Given the description of an element on the screen output the (x, y) to click on. 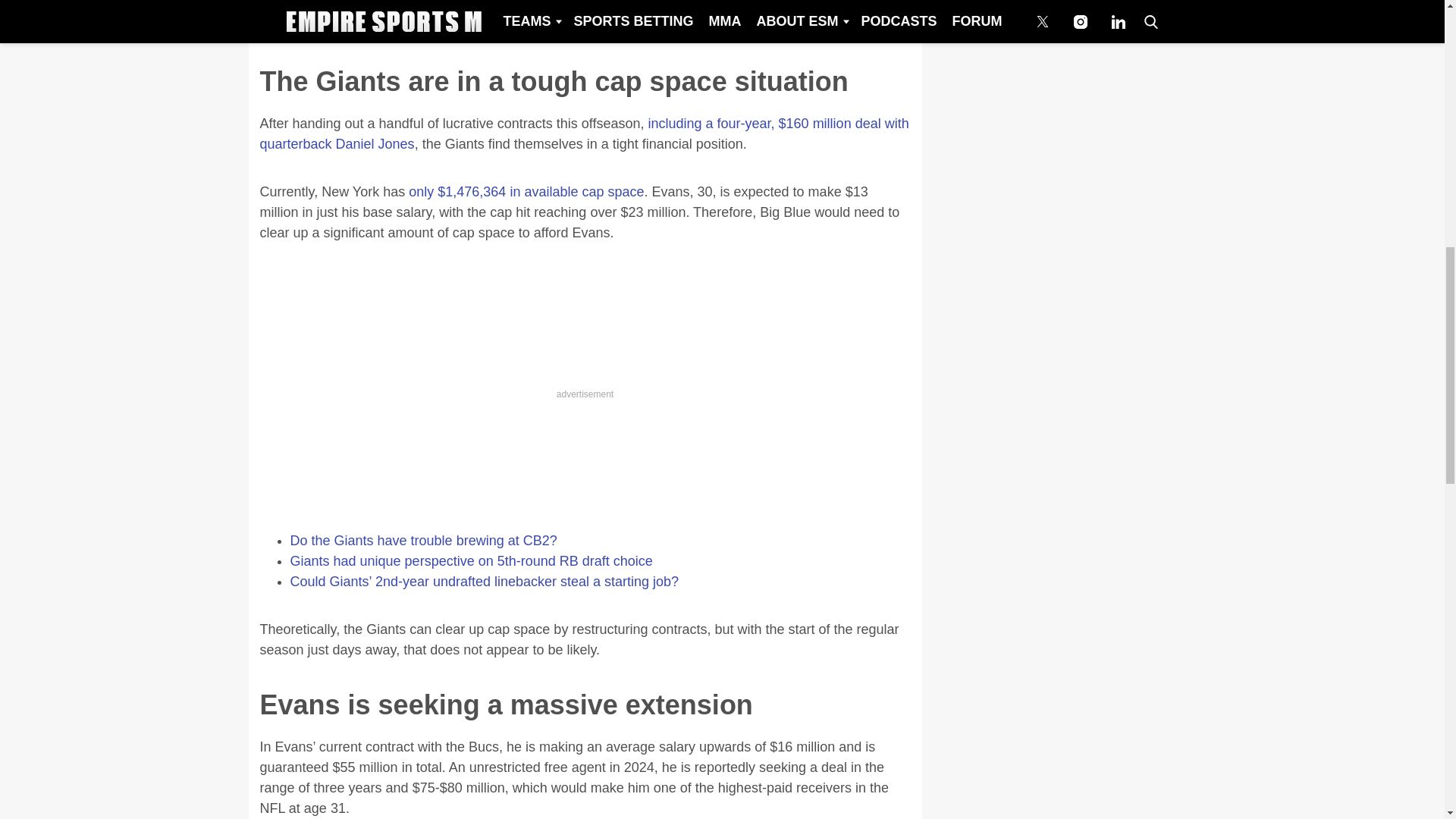
Do the Giants have trouble brewing at CB2? (422, 540)
Giants had unique perspective on 5th-round RB draft choice (470, 560)
